Given the description of an element on the screen output the (x, y) to click on. 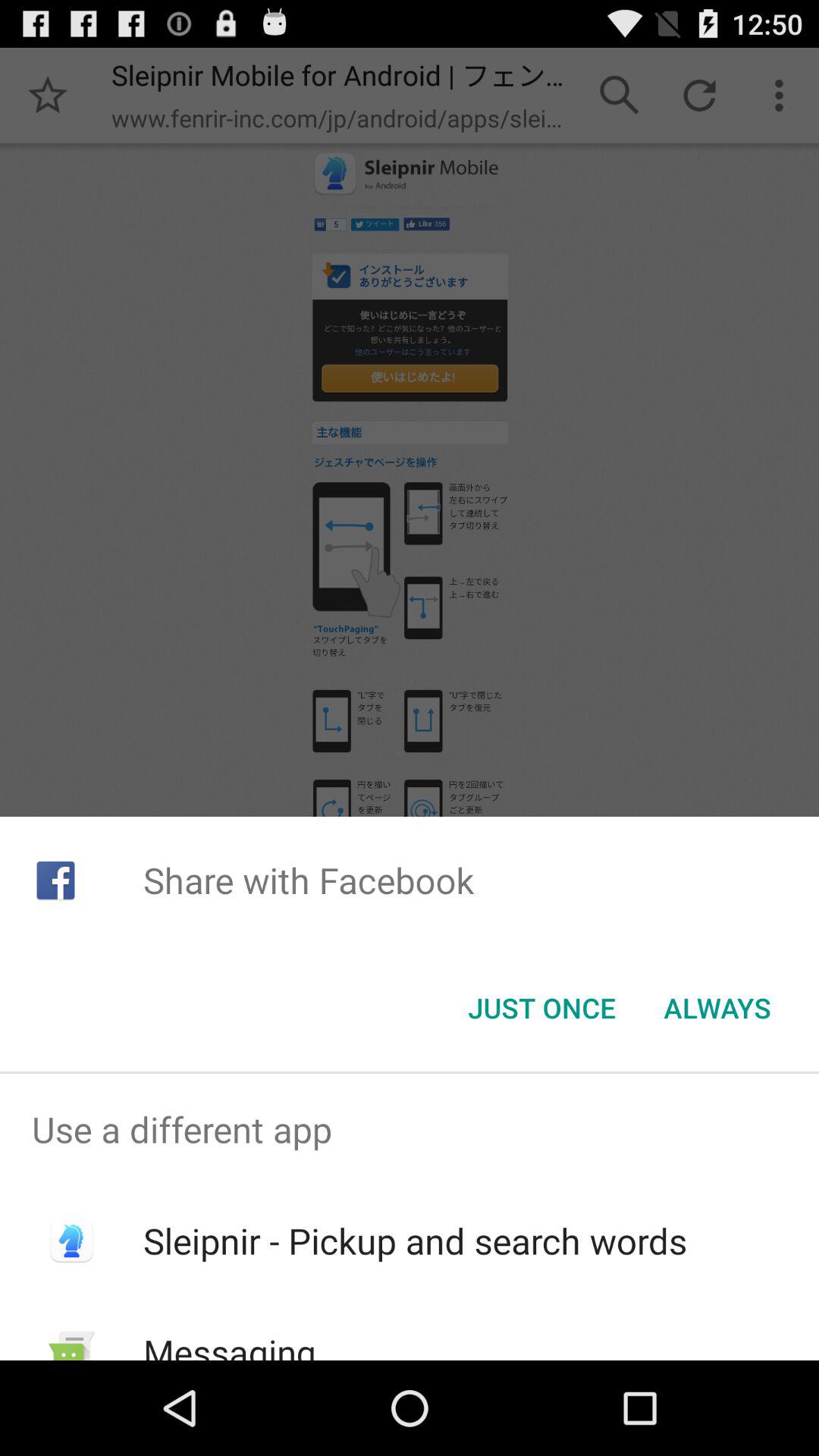
turn off the just once icon (541, 1007)
